Given the description of an element on the screen output the (x, y) to click on. 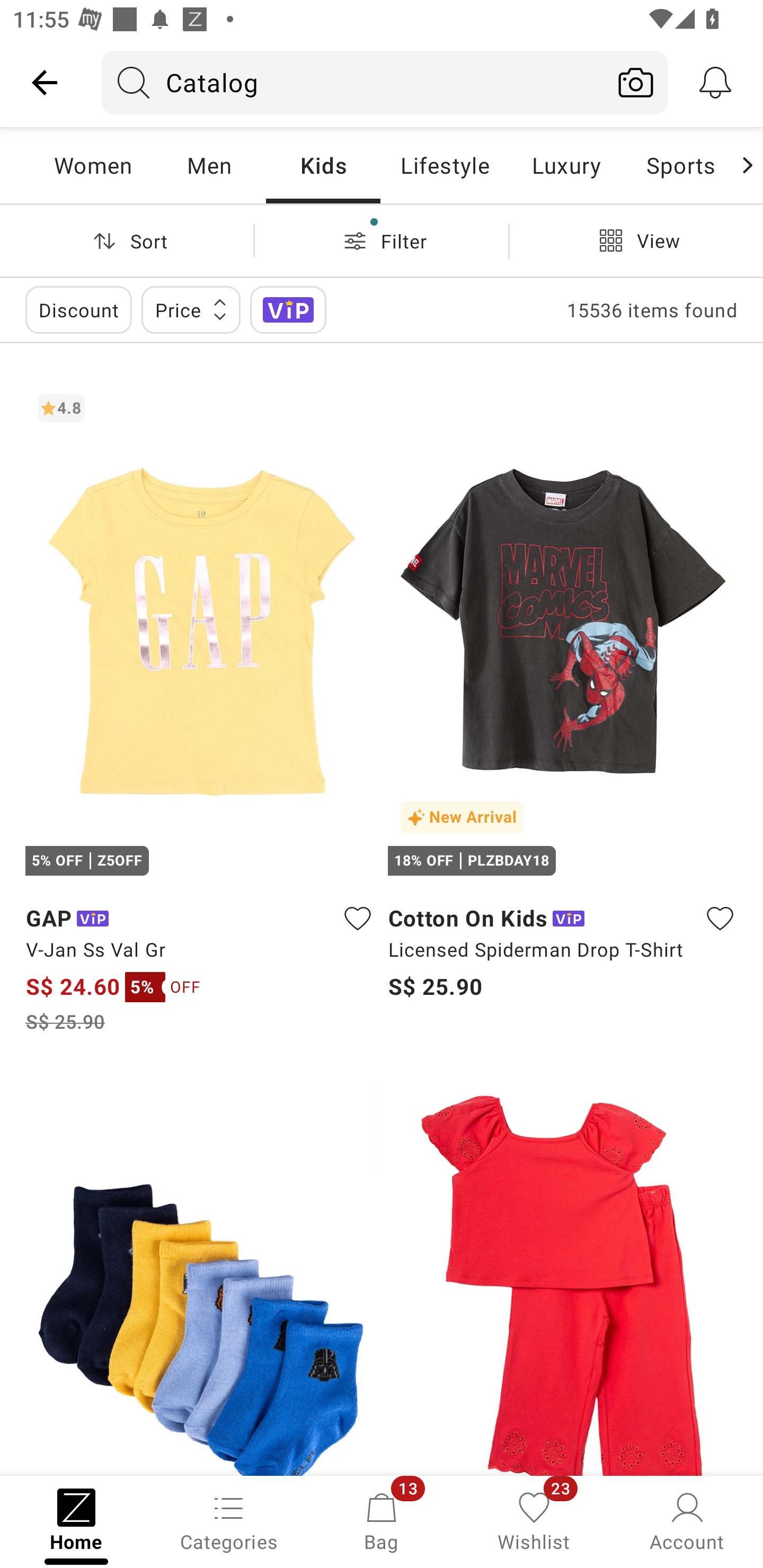
Navigate up (44, 82)
Catalog (352, 82)
Women (92, 165)
Men (208, 165)
Lifestyle (444, 165)
Luxury (565, 165)
Sports (680, 165)
Sort (126, 240)
Filter (381, 240)
View (636, 240)
Discount (78, 309)
Price (190, 309)
Categories (228, 1519)
Bag, 13 new notifications Bag (381, 1519)
Wishlist, 23 new notifications Wishlist (533, 1519)
Account (686, 1519)
